Given the description of an element on the screen output the (x, y) to click on. 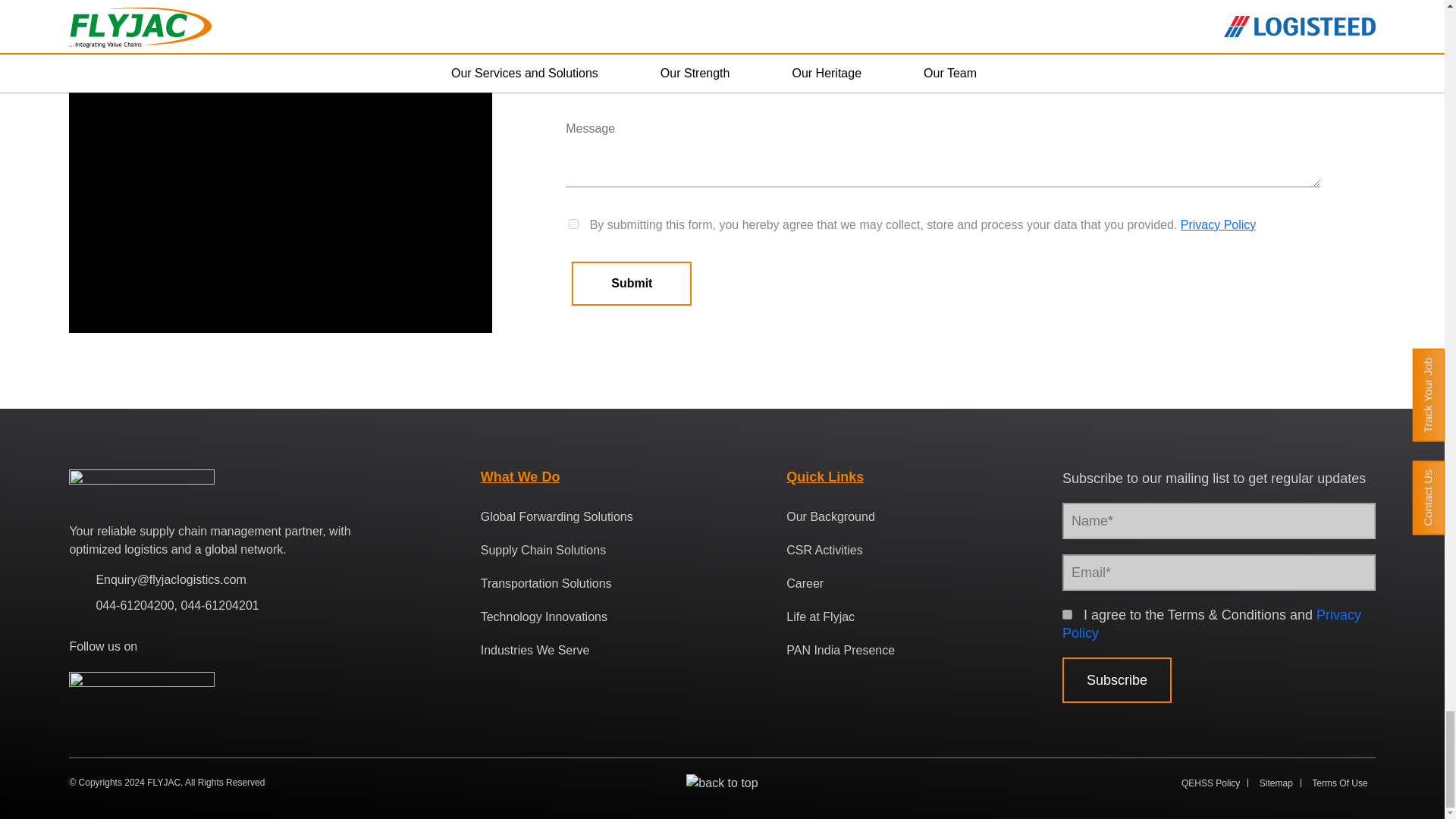
1 (1066, 614)
Submit (631, 283)
1 (573, 224)
Subscribe (1117, 679)
